Given the description of an element on the screen output the (x, y) to click on. 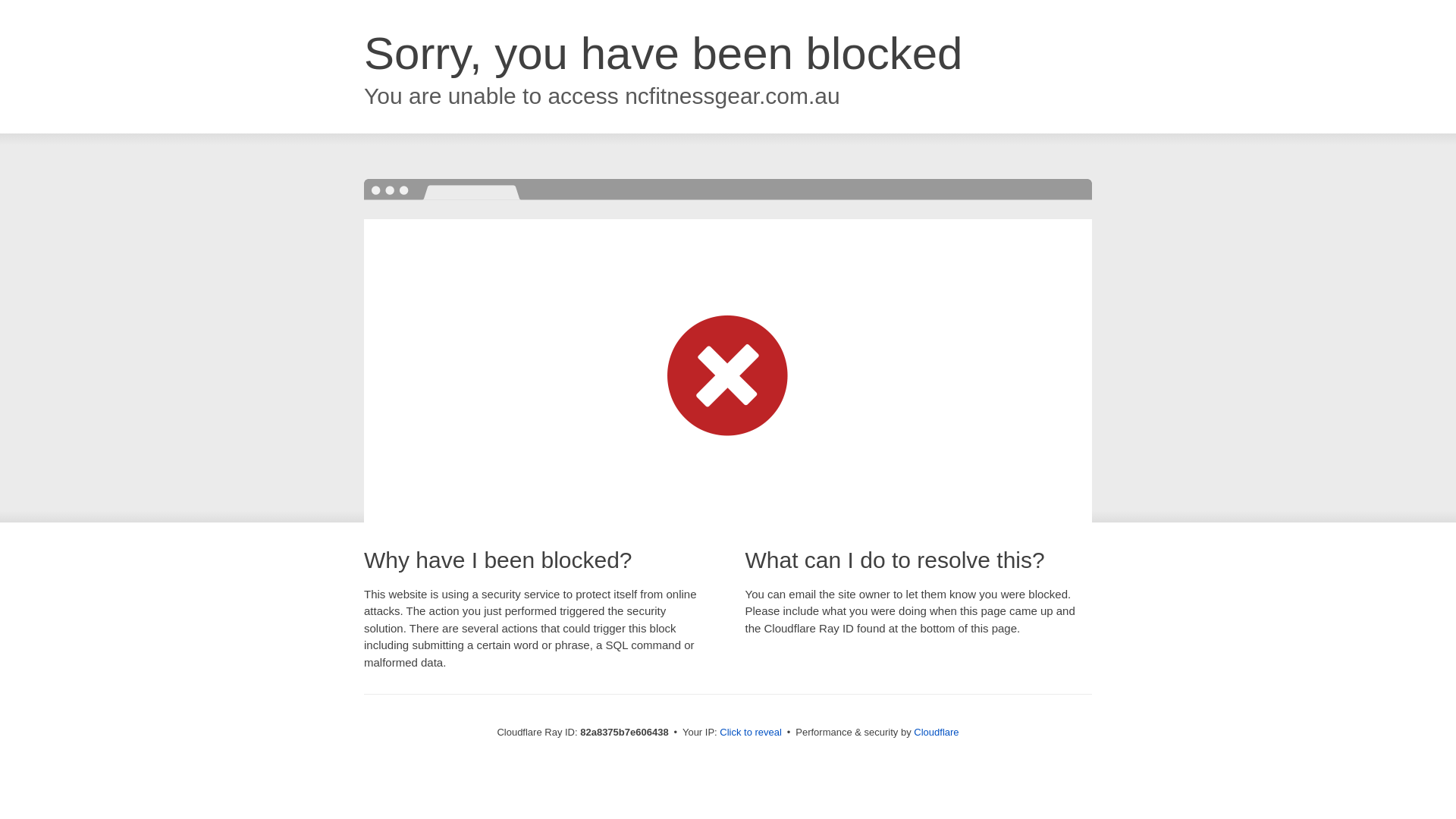
Cloudflare Element type: text (935, 731)
Click to reveal Element type: text (750, 732)
